Given the description of an element on the screen output the (x, y) to click on. 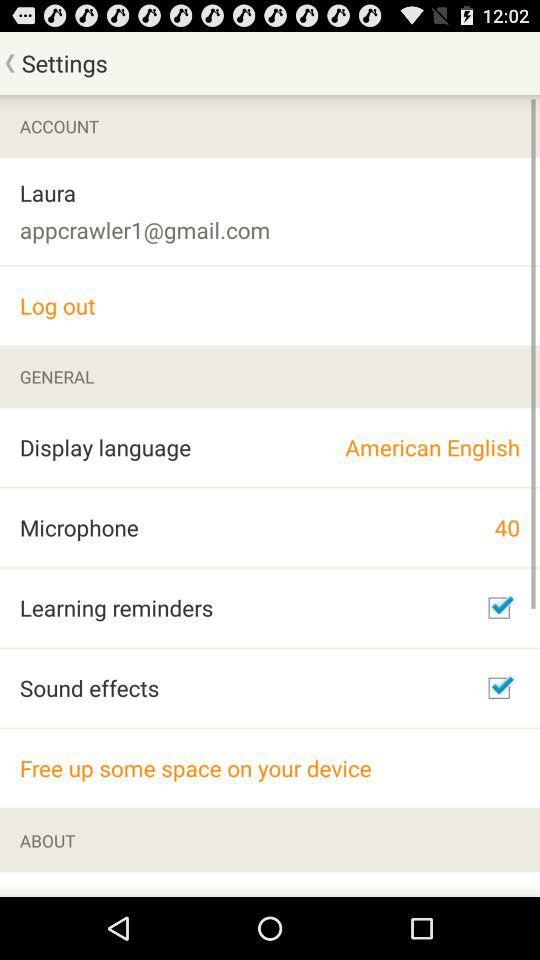
check mark box (499, 687)
